Given the description of an element on the screen output the (x, y) to click on. 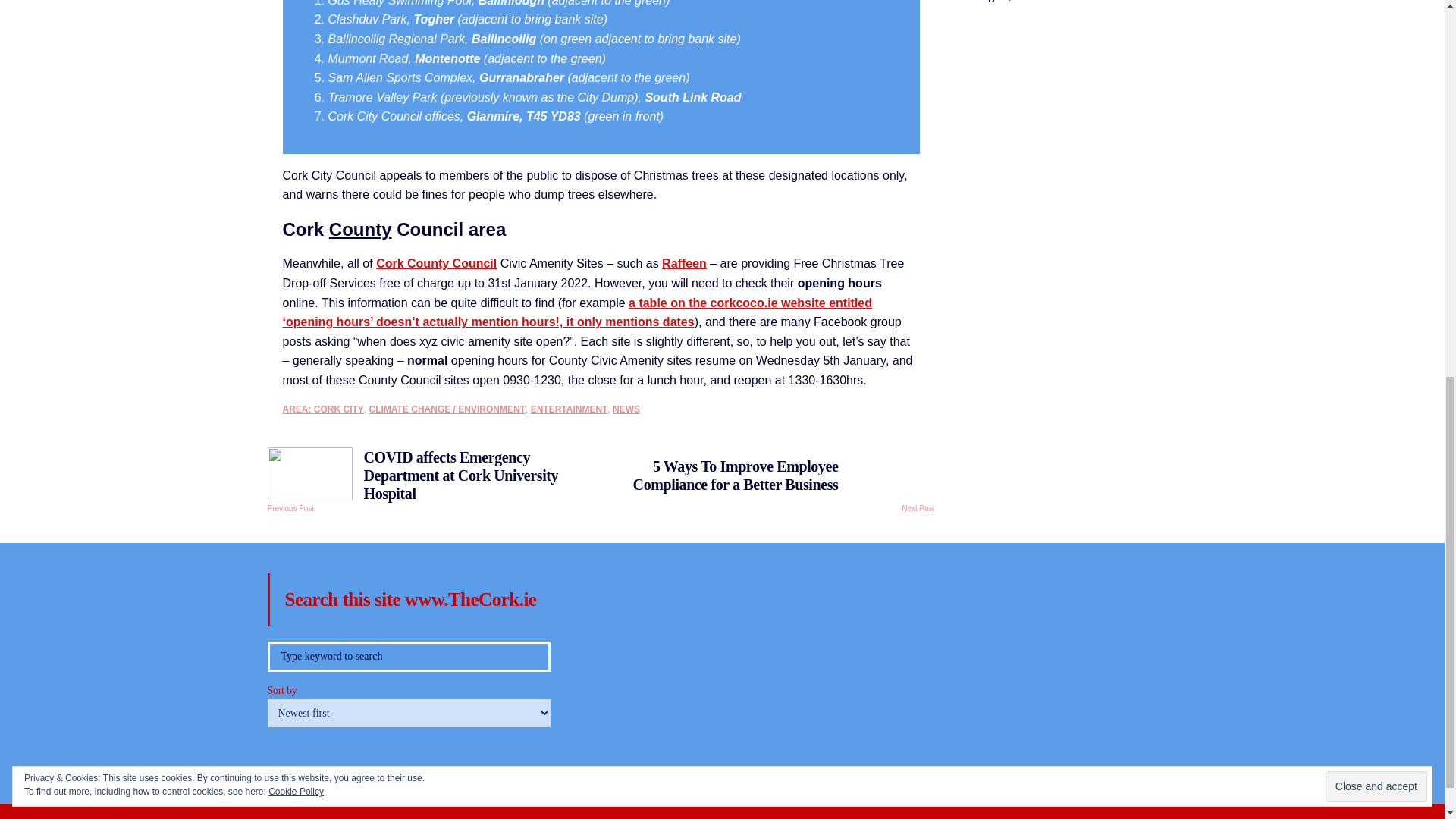
Type keyword to search (408, 656)
Close and accept (1375, 55)
Type keyword to search (408, 656)
